Given the description of an element on the screen output the (x, y) to click on. 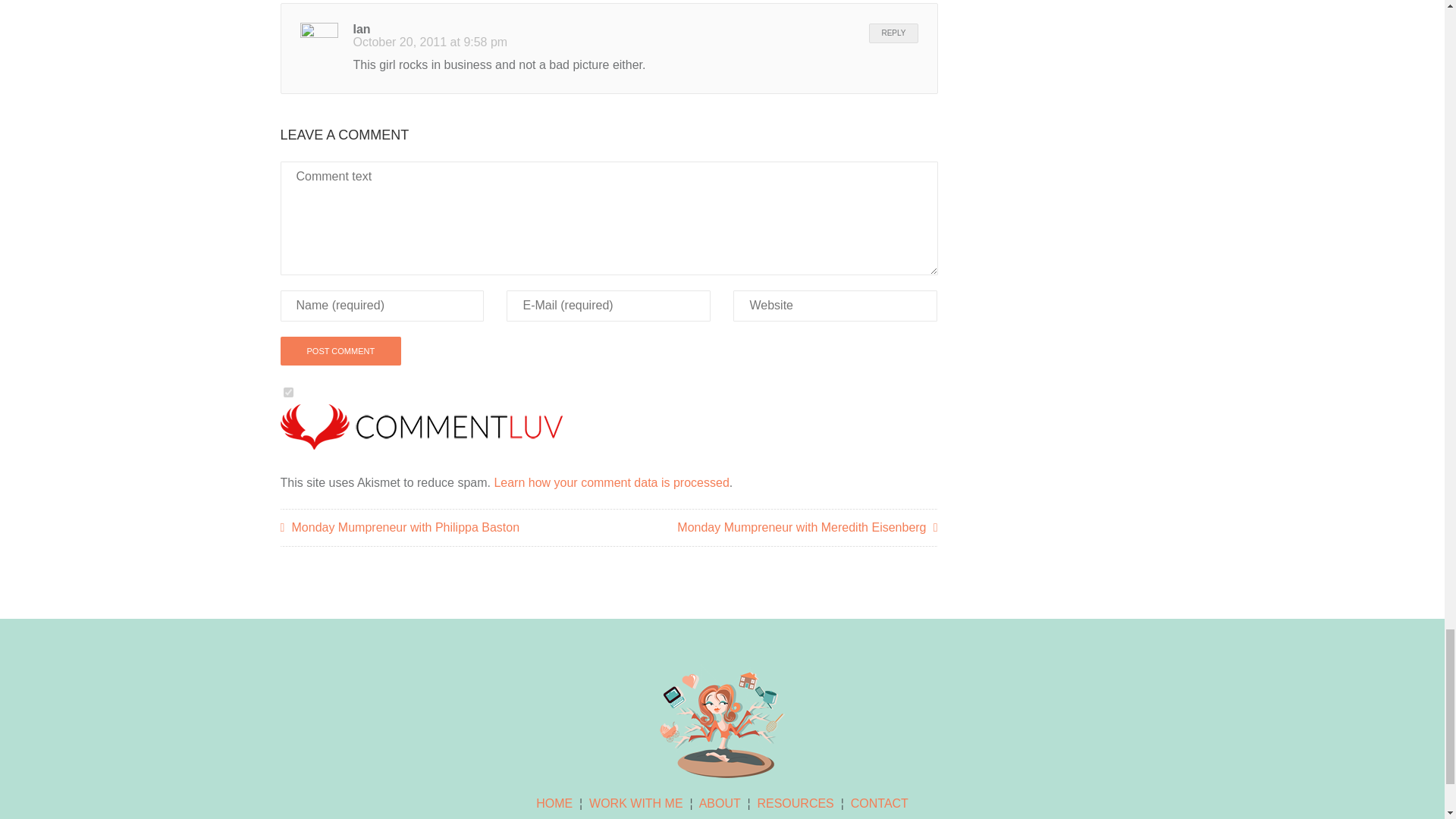
Post comment (341, 350)
on (288, 392)
